Given the description of an element on the screen output the (x, y) to click on. 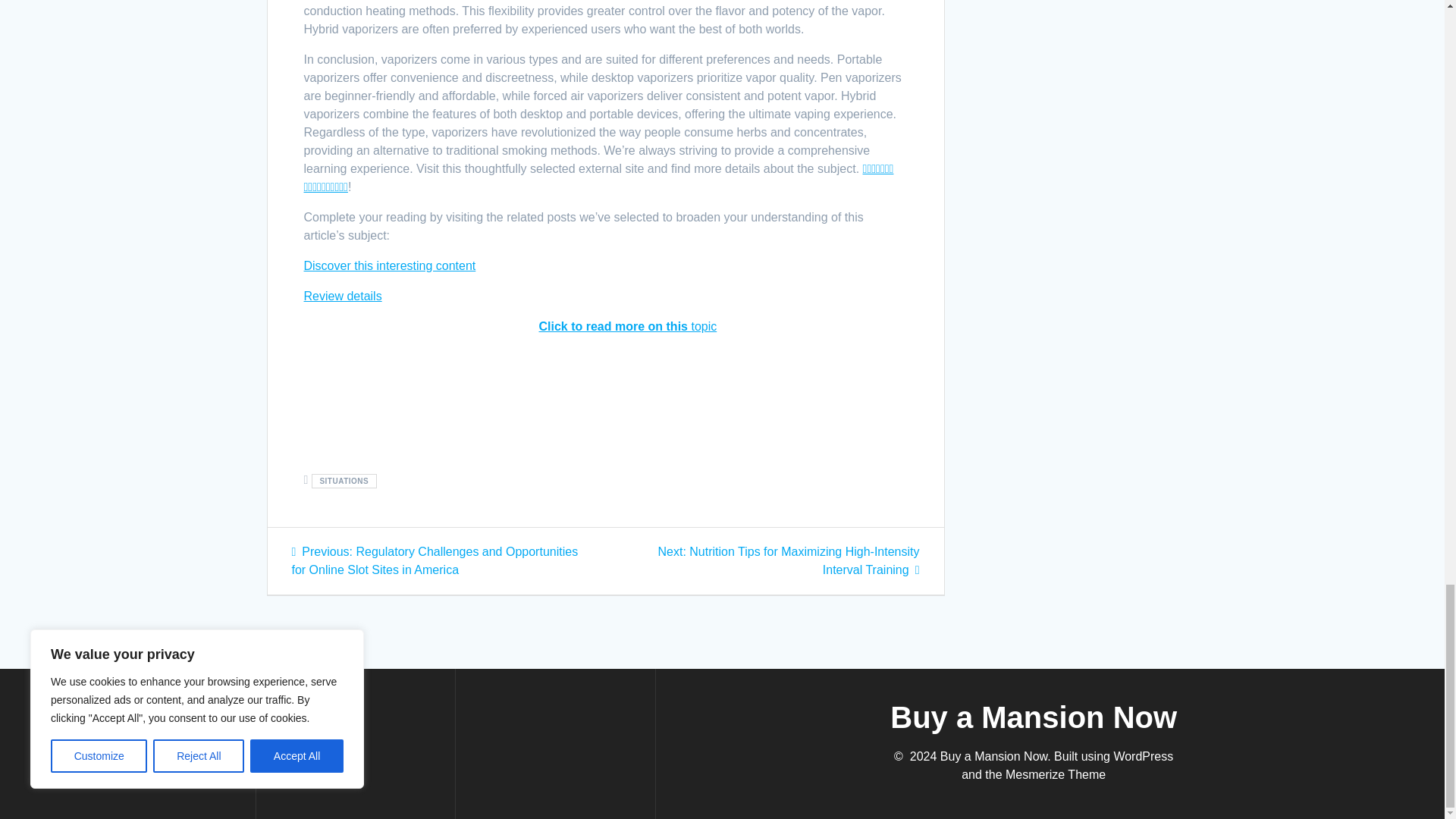
SITUATIONS (344, 481)
Review details (341, 295)
Discover this interesting content (389, 265)
Click to read more on this topic (627, 326)
